Given the description of an element on the screen output the (x, y) to click on. 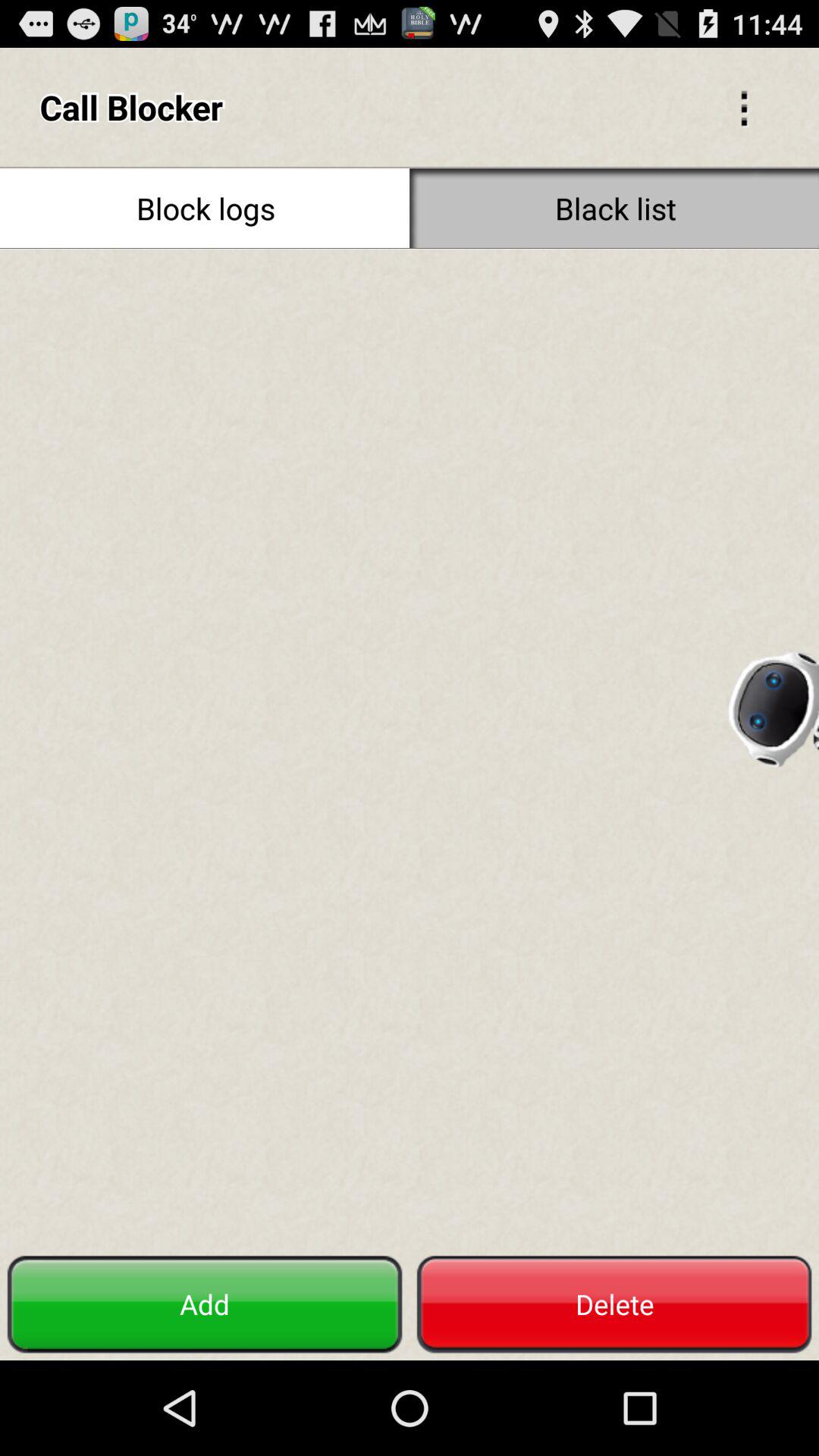
press the button next to the add button (613, 1304)
